Given the description of an element on the screen output the (x, y) to click on. 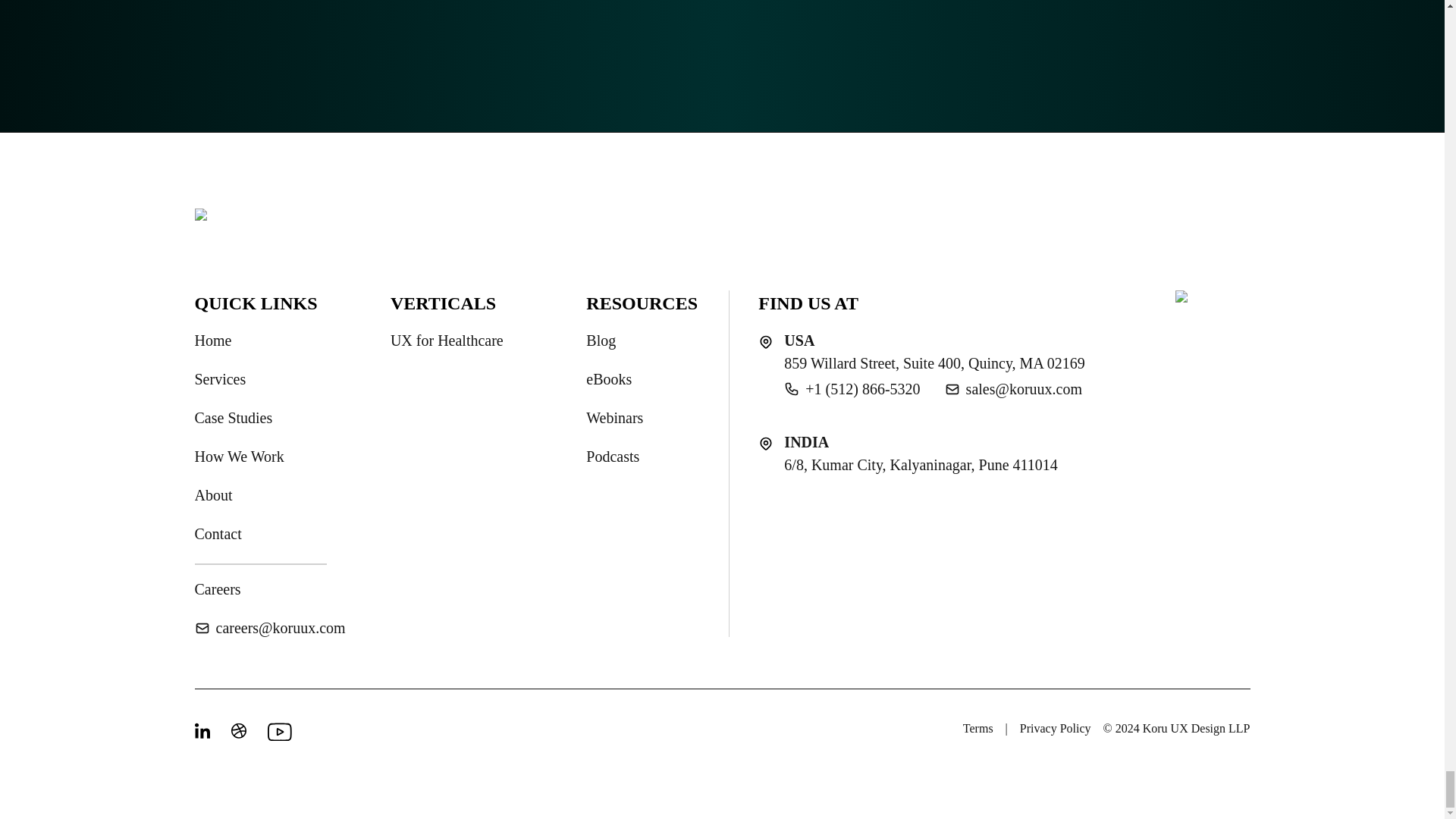
Terms (977, 728)
How We Work (238, 456)
Blog (600, 340)
Case Studies (232, 417)
Home (212, 340)
Services (219, 379)
eBooks (608, 379)
Visit our dribble page (239, 731)
Visit our linked-in page (202, 731)
Careers (216, 588)
Visit our YouTube channel (275, 731)
UX for Healthcare (446, 340)
Webinars (614, 417)
Podcasts (612, 456)
Contact (217, 533)
